Given the description of an element on the screen output the (x, y) to click on. 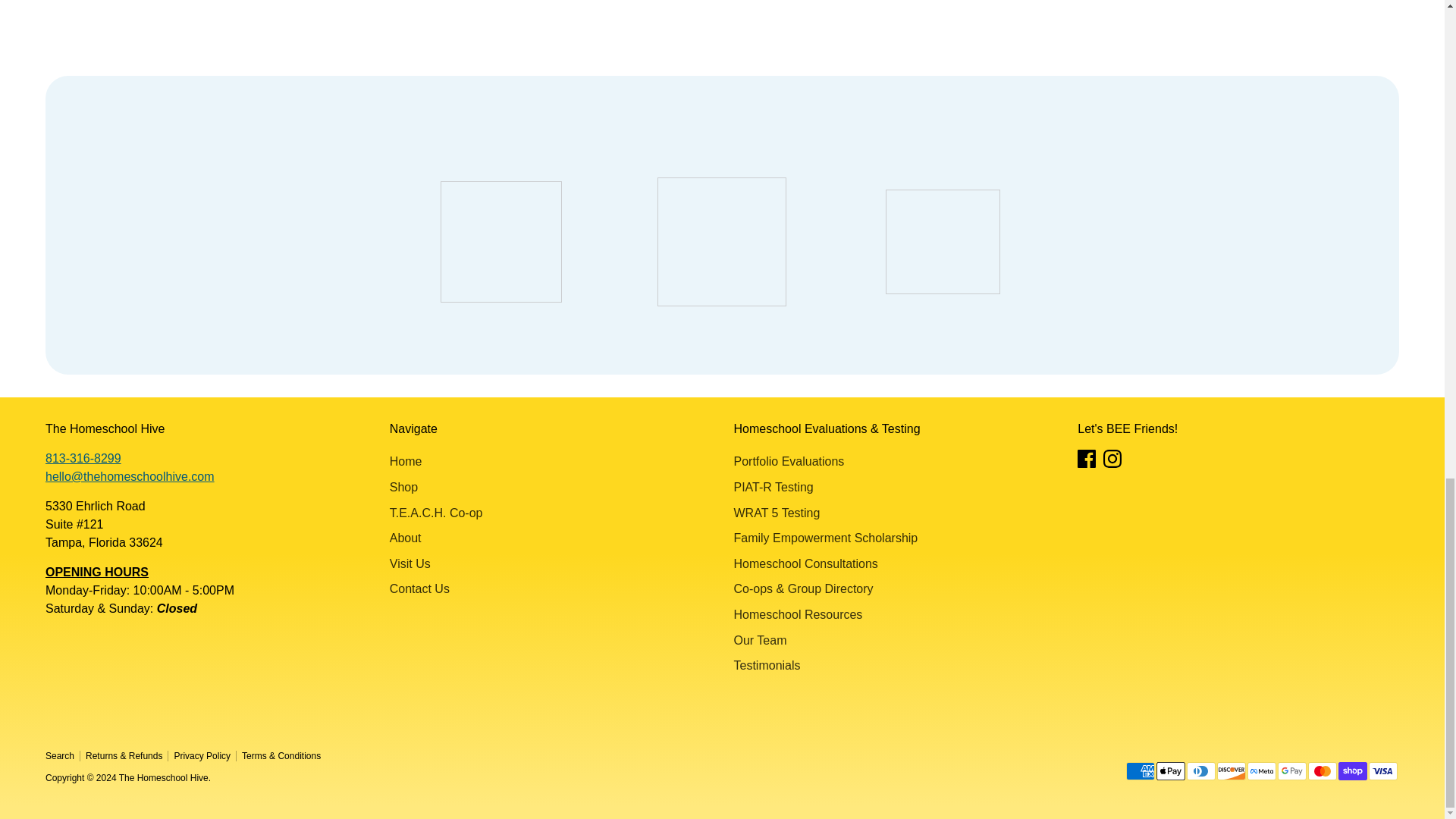
Shop Pay (1352, 771)
tel:813-316-8299 (82, 458)
Apple Pay (1170, 771)
Google Pay (1292, 771)
Diners Club (1200, 771)
Discover (1231, 771)
American Express (1139, 771)
Meta Pay (1261, 771)
Visa (1382, 771)
Mastercard (1321, 771)
